Given the description of an element on the screen output the (x, y) to click on. 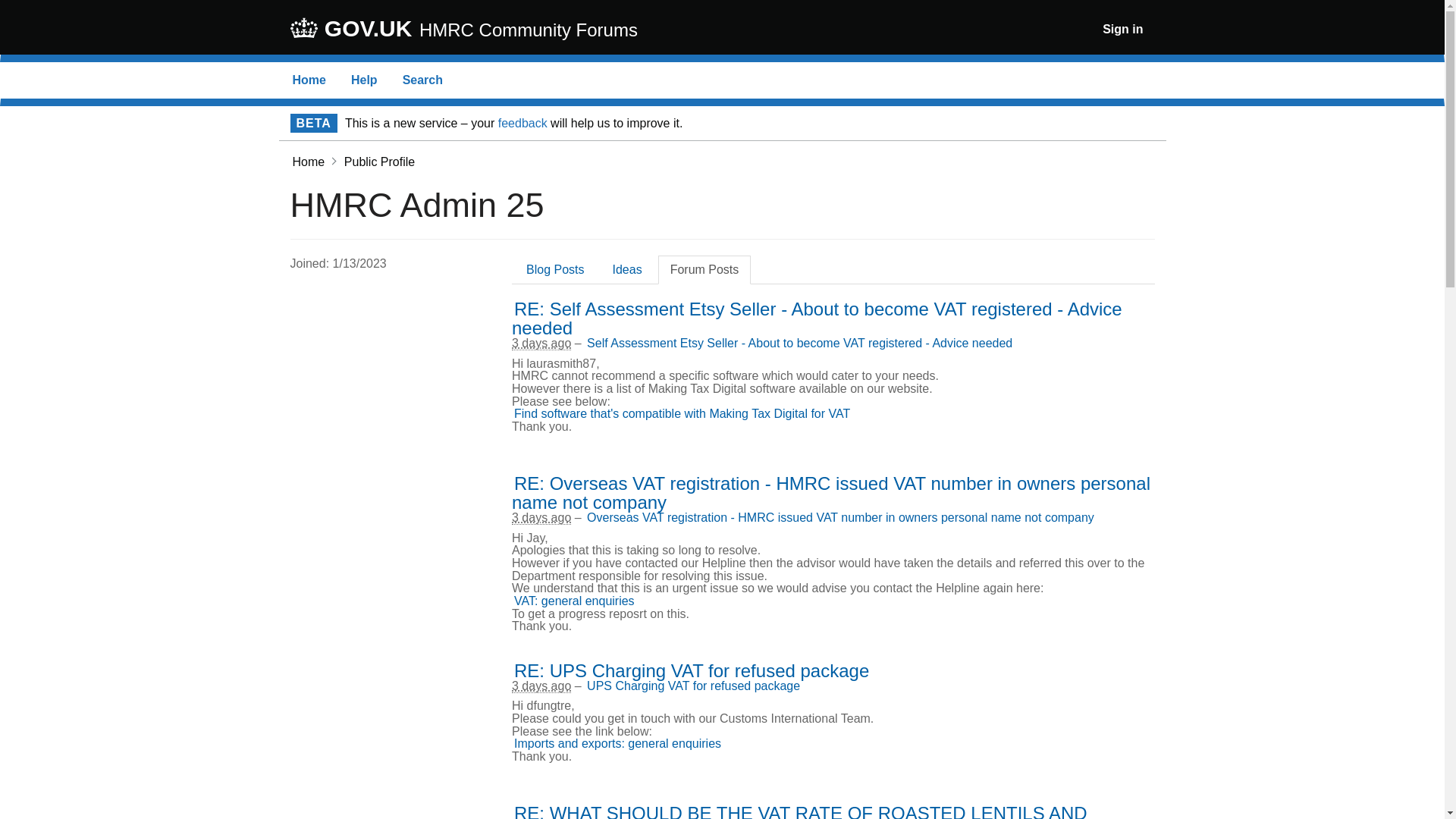
feedback (522, 123)
VAT: general enquiries (573, 600)
Search (422, 79)
Home (309, 79)
Blog Posts (554, 269)
Help (363, 79)
Sign in (1122, 29)
